Given the description of an element on the screen output the (x, y) to click on. 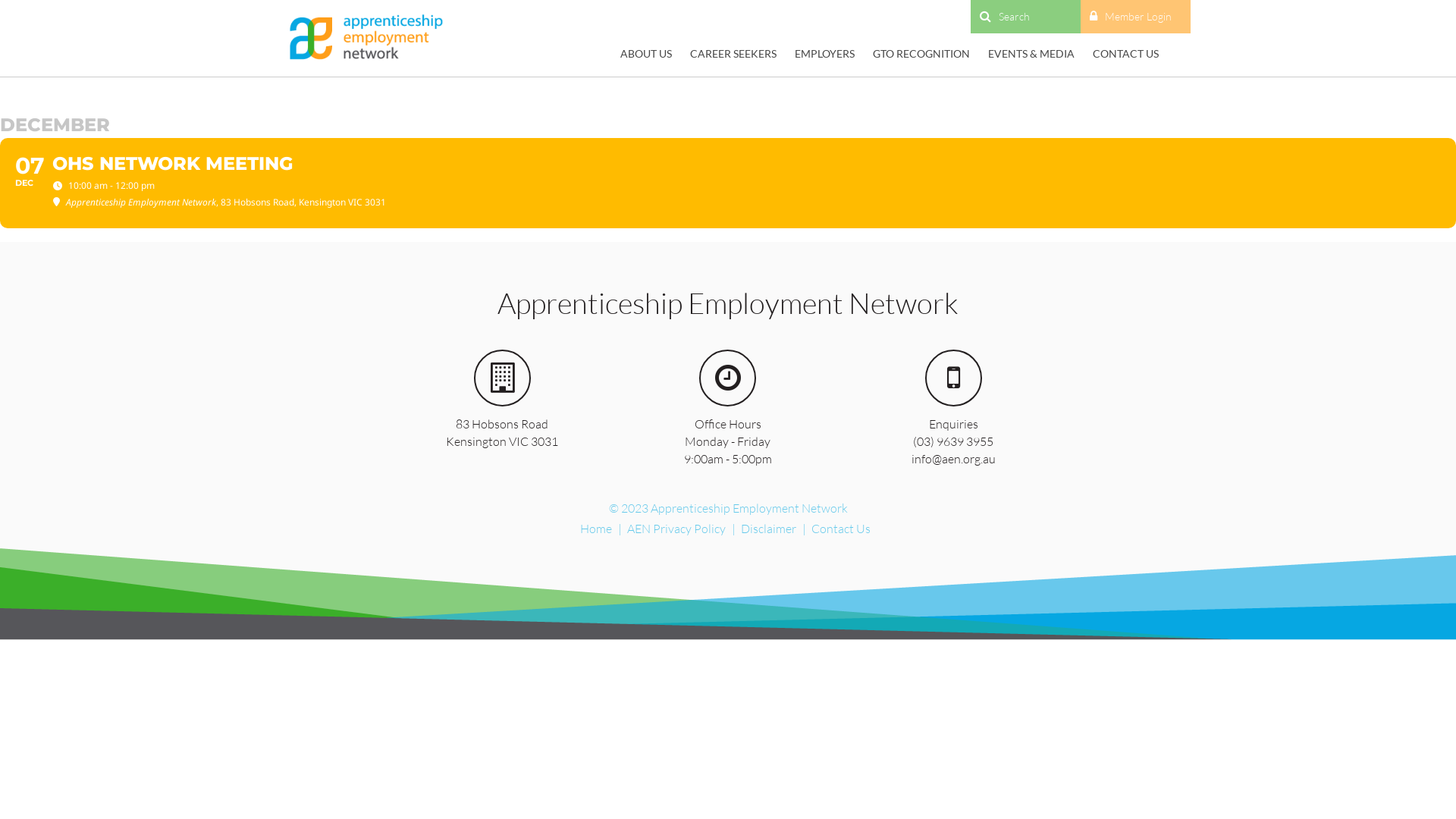
EMPLOYERS Element type: text (824, 53)
Contact Us Element type: text (840, 528)
info@aen.org.au Element type: text (953, 458)
CONTACT US Element type: text (1125, 53)
Apprenticeship Employment Network Element type: hover (365, 37)
Apprenticeship Employment Network Element type: hover (365, 37)
Disclaimer Element type: text (767, 528)
EVENTS & MEDIA Element type: text (1031, 53)
AEN Privacy Policy Element type: text (675, 528)
ABOUT US Element type: text (645, 53)
GTO RECOGNITION Element type: text (921, 53)
Home Element type: text (595, 528)
CAREER SEEKERS Element type: text (732, 53)
